Given the description of an element on the screen output the (x, y) to click on. 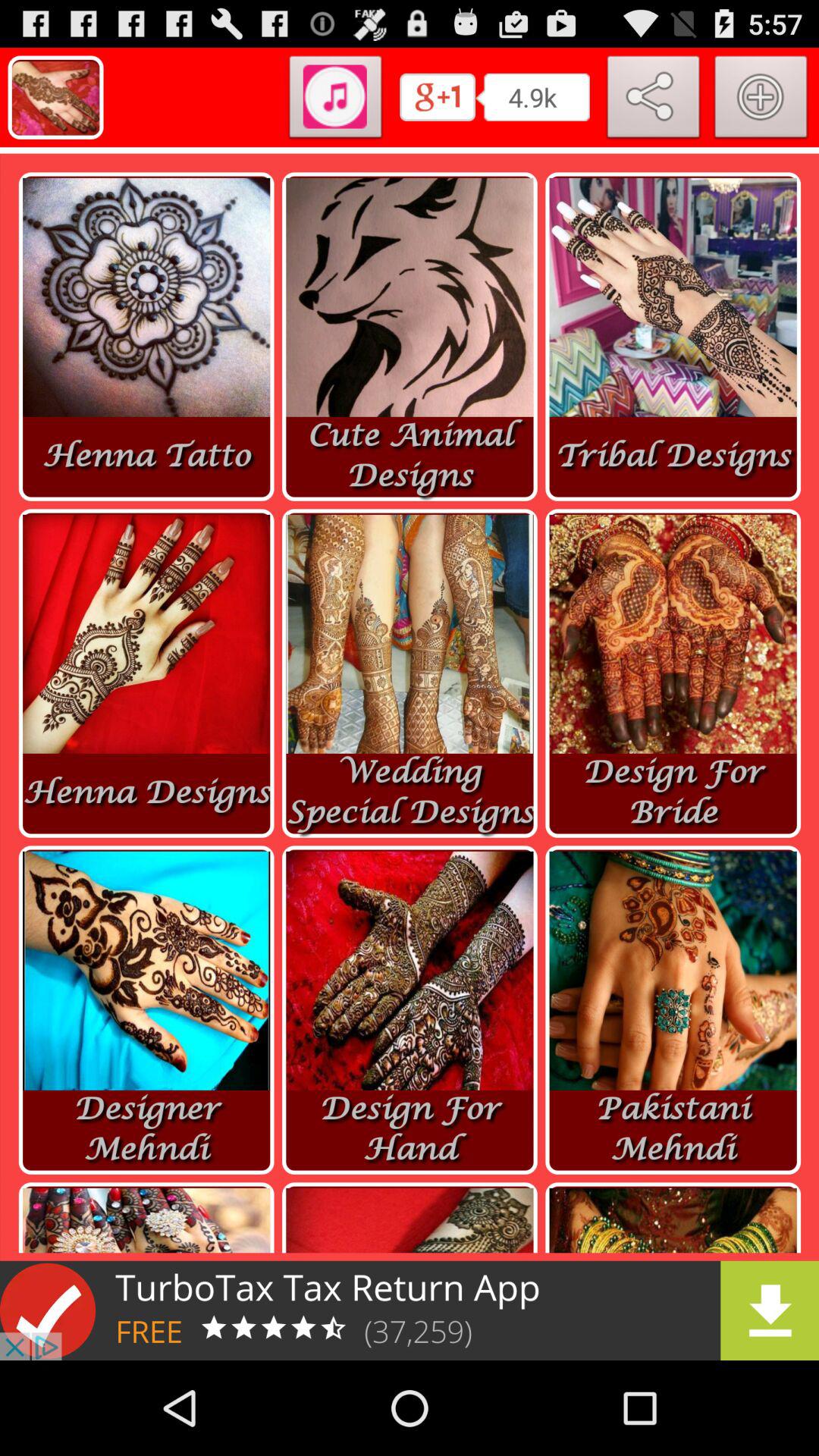
music play bitton (335, 100)
